Given the description of an element on the screen output the (x, y) to click on. 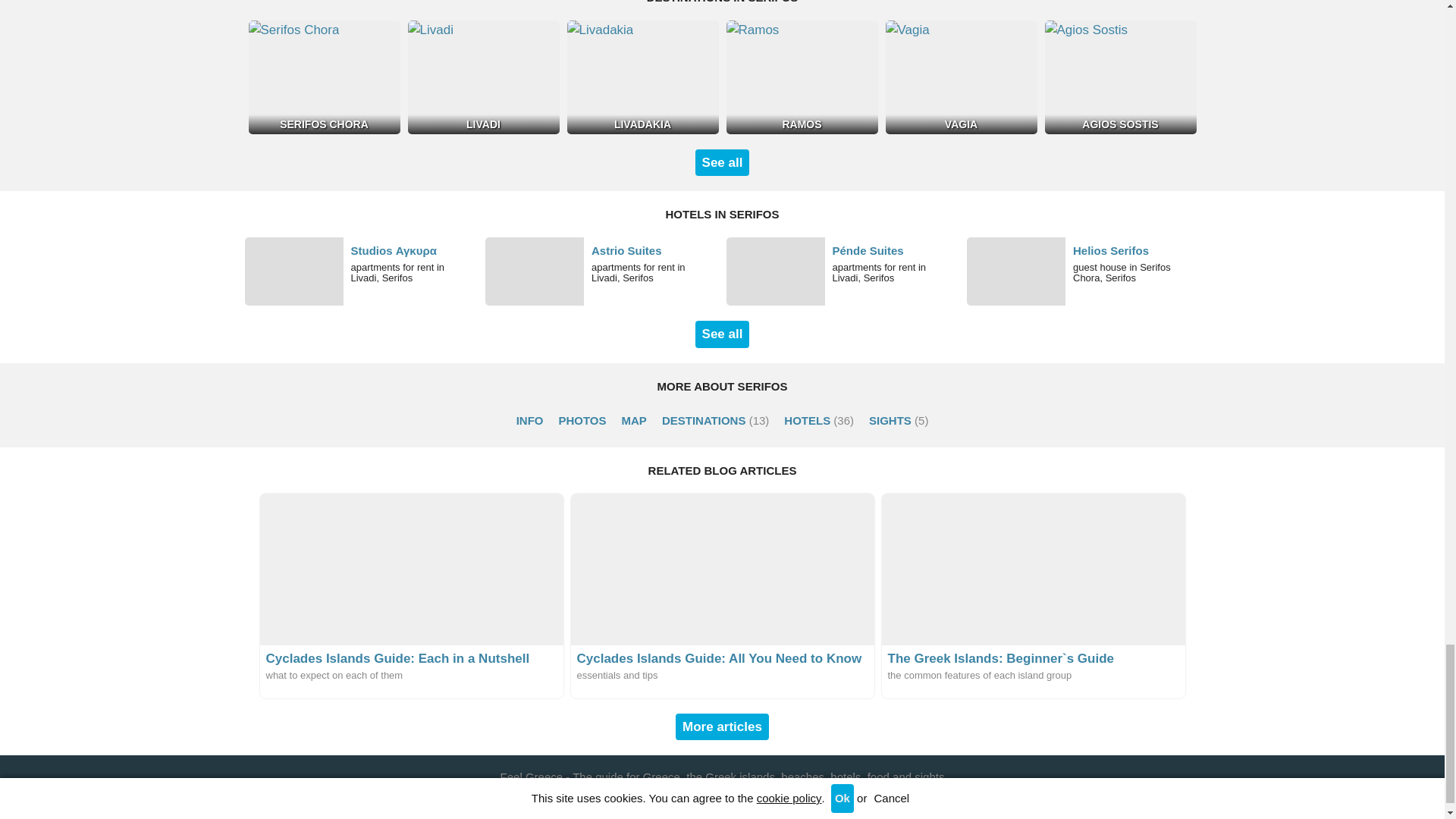
Agios Sostis (1120, 77)
Serifos Chora (324, 77)
Vagia (960, 77)
Livadi (483, 77)
Livadakia (643, 77)
apartments for rent in Livadi (360, 271)
guest house in Serifos Chora (1082, 271)
Ramos (801, 77)
apartments for rent in Livadi (601, 271)
apartments for rent in Livadi (842, 271)
